Given the description of an element on the screen output the (x, y) to click on. 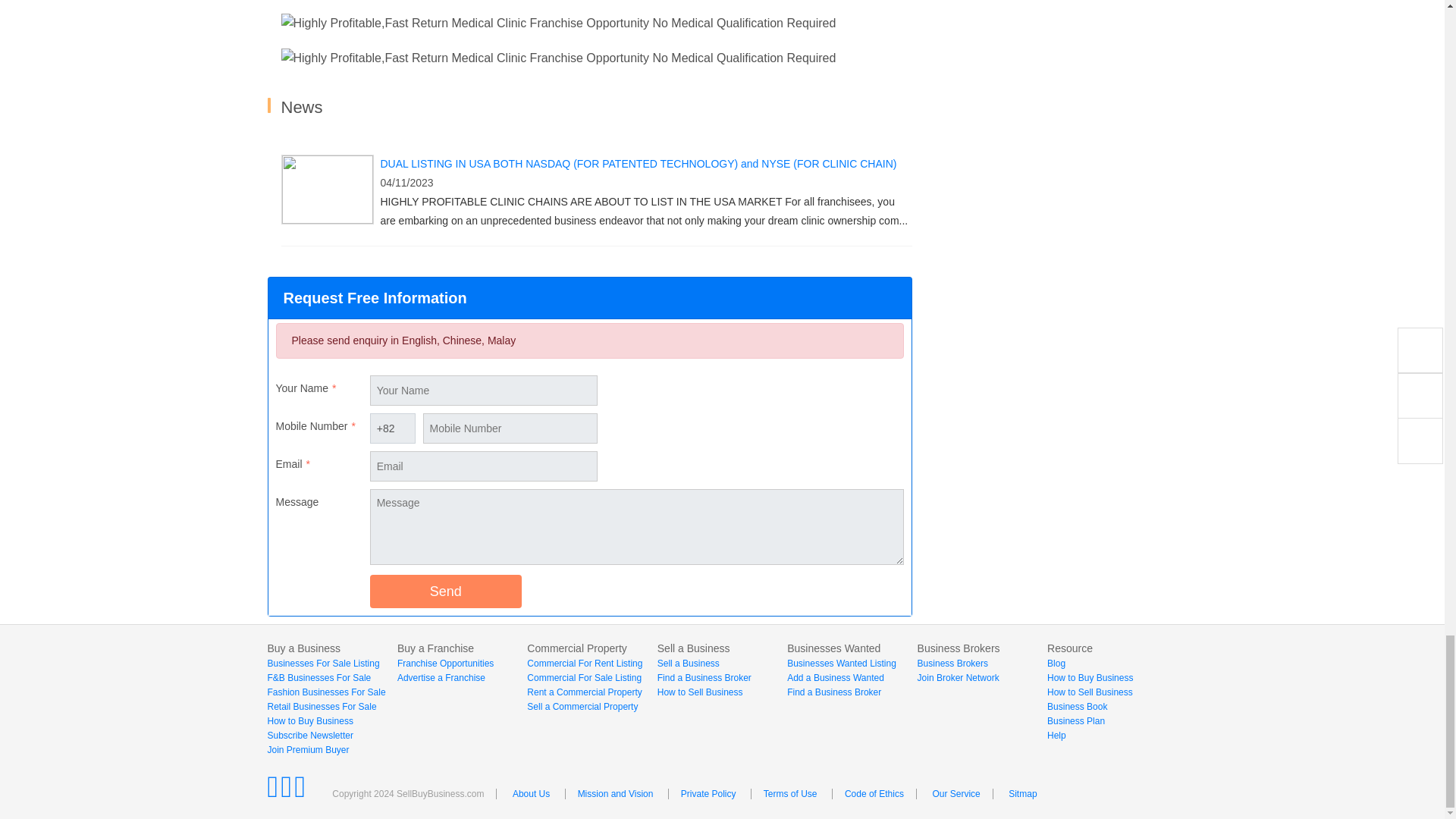
Send (445, 591)
